Given the description of an element on the screen output the (x, y) to click on. 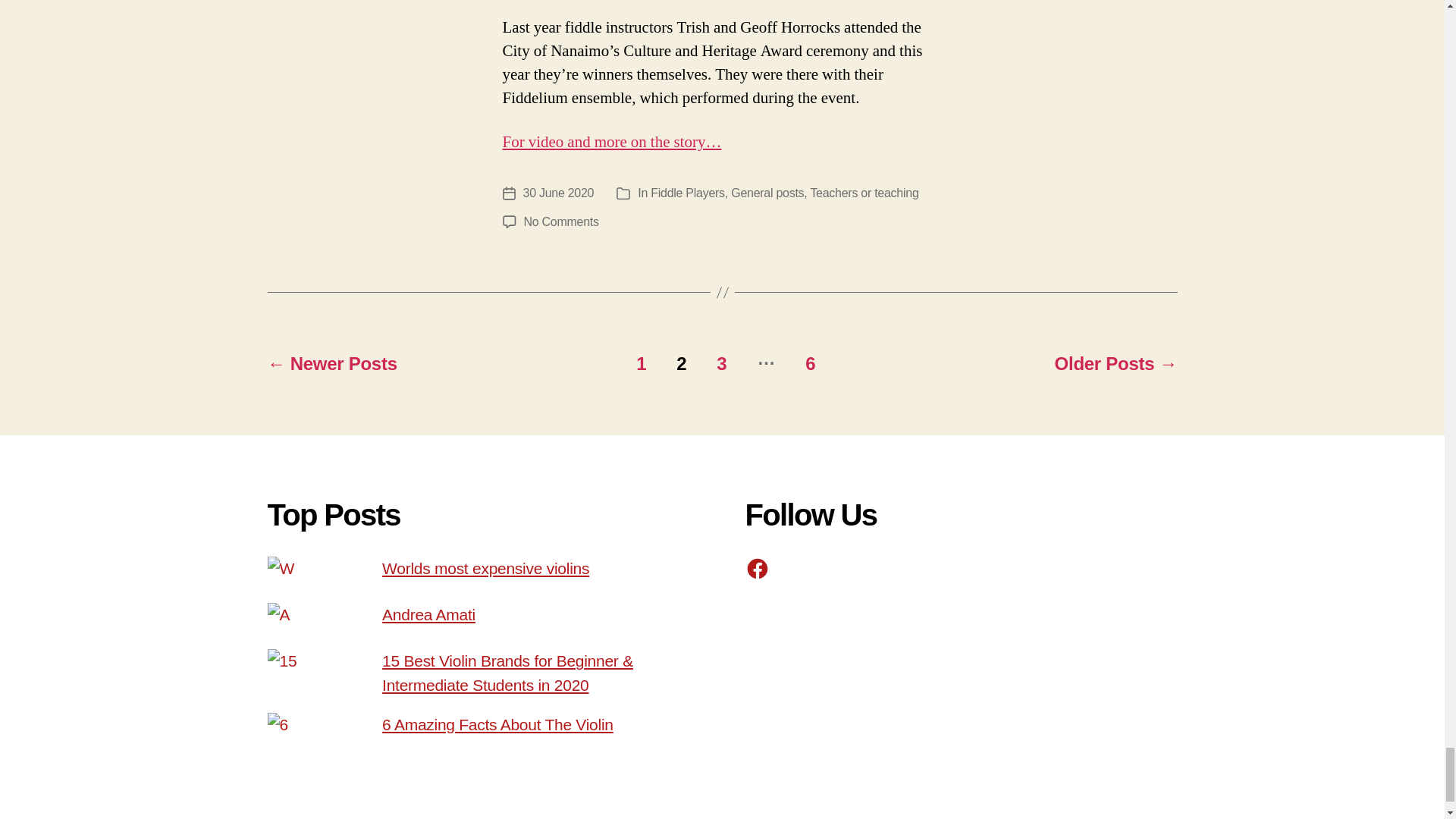
Andrea Amati (428, 614)
Worlds most expensive violins (485, 568)
6 Amazing Facts About The Violin (496, 724)
